Given the description of an element on the screen output the (x, y) to click on. 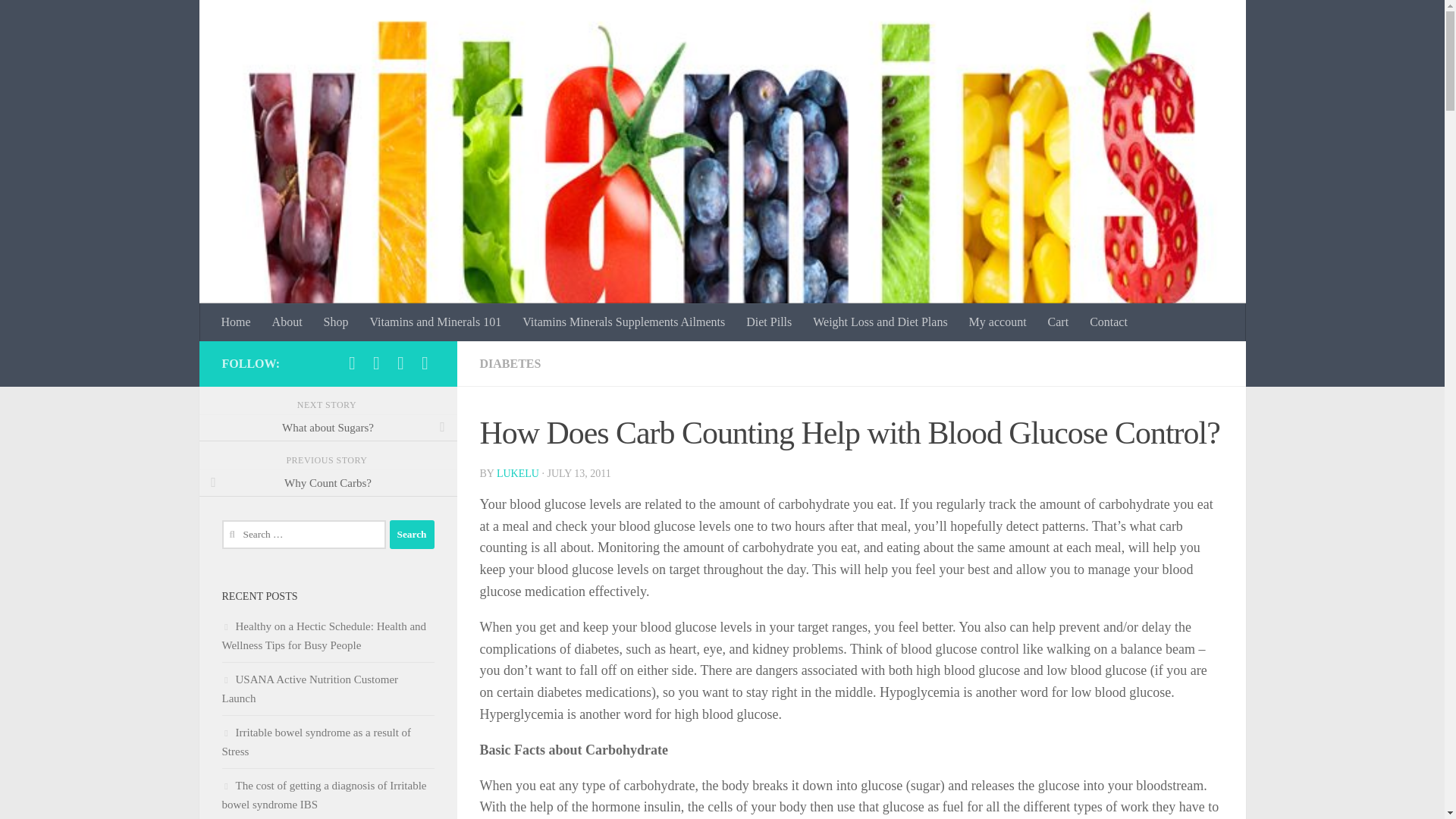
Follow us on Instagram (400, 362)
Follow us on Twitter (375, 362)
Skip to content (59, 20)
Search (411, 534)
Contact (1108, 322)
Vitamins and Minerals 101 (435, 322)
Search (411, 534)
LUKELU (517, 473)
DIABETES (509, 363)
What about Sugars? (327, 427)
